Given the description of an element on the screen output the (x, y) to click on. 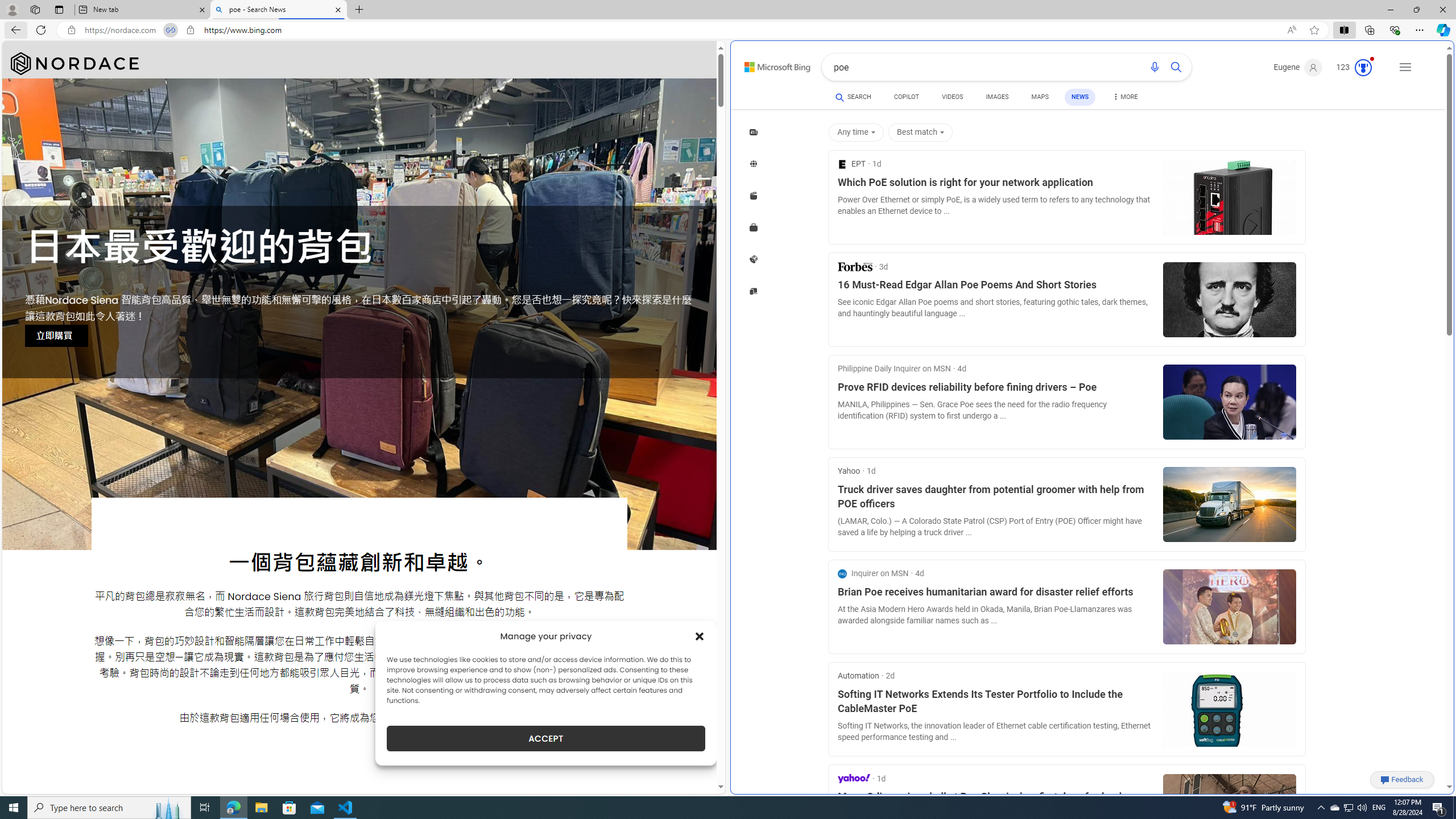
Which PoE solution is right for your network application (995, 183)
VIDEOS (951, 98)
NEWS (1080, 96)
Back to Bing search (770, 64)
Search news about World (754, 163)
COPILOT (906, 98)
Microsoft Rewards 123 (1354, 67)
COPILOT (906, 96)
IMAGES (997, 96)
